Given the description of an element on the screen output the (x, y) to click on. 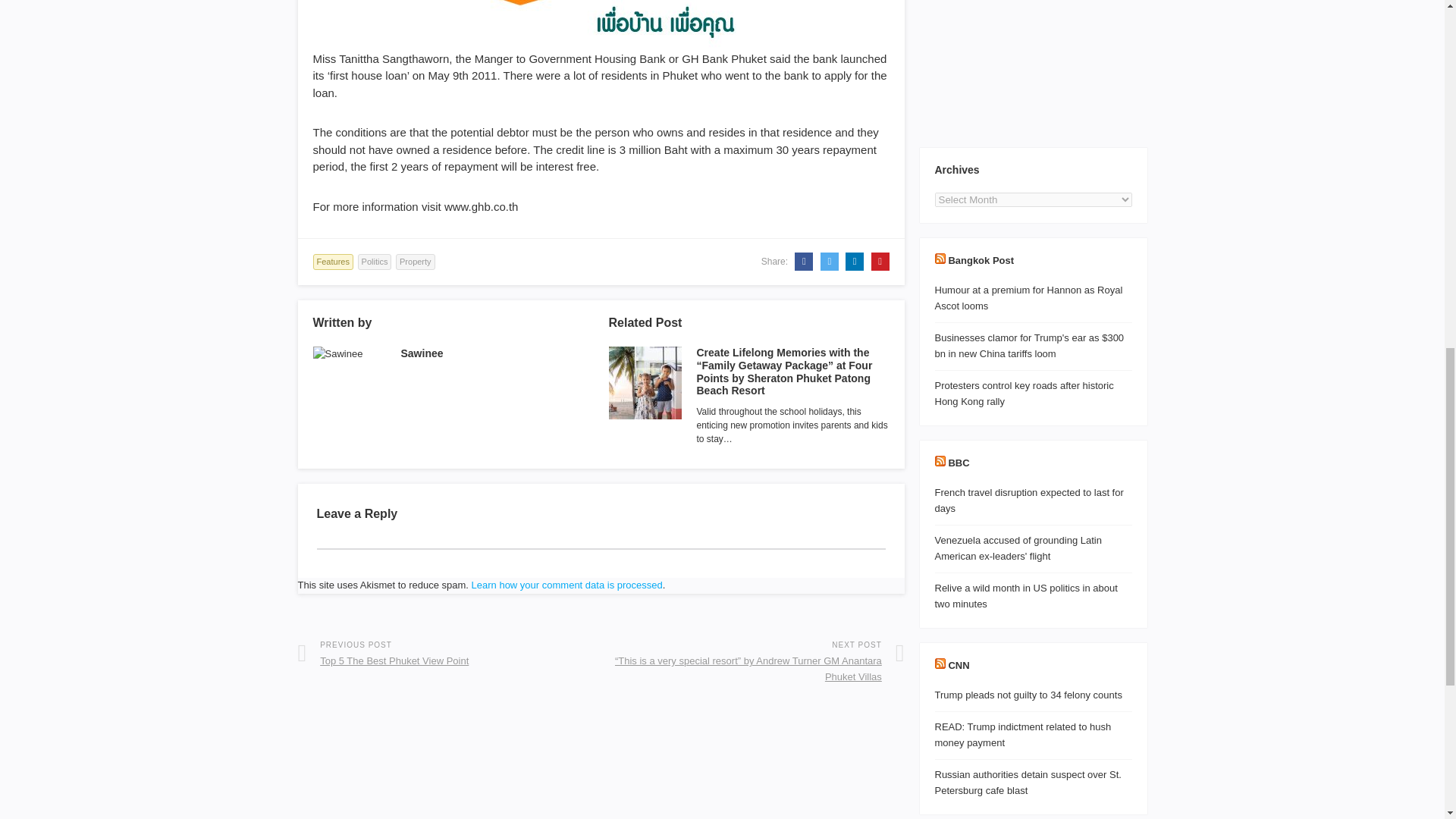
Features (332, 261)
Politics (374, 261)
Property (415, 261)
3rd party ad content (1032, 66)
GH BANK (600, 25)
